Given the description of an element on the screen output the (x, y) to click on. 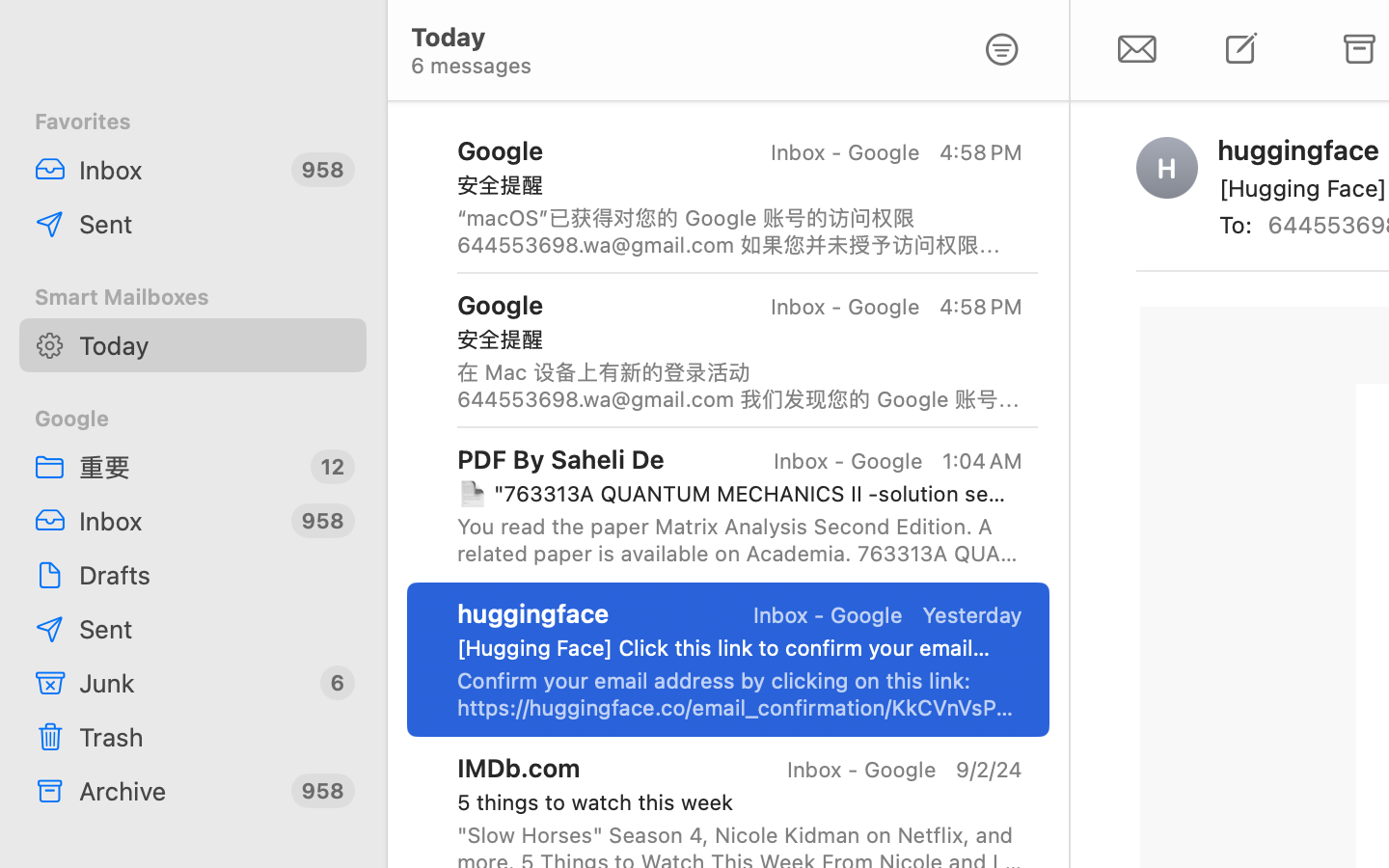
在 Mac 设备上有新的登录活动 644553698.wa@gmail.com 我们发现您的 Google 账号在一部 Mac 设备上有新的登录活动。如果这是您本人的操作，那么您无需采取任何行动。如果这不是您本人的操作，我们会帮助您保护您的账号。 查看活动 您也可以访问以下网址查看安全性活动： https://myaccount.google.com/notifications 我们向您发送这封电子邮件，目的是让您了解关于您的 Google 账号和服务的重大变化。 © 2024 Google LLC, 1600 Amphitheatre Parkway, Mountain View, CA 94043, USA Element type: AXStaticText (739, 385)
Archive Element type: AXStaticText (177, 790)
Junk Element type: AXStaticText (191, 682)
📄 "763313A QUANTUM MECHANICS II -solution set 2 -spring 2014" by Saheli De Element type: AXStaticText (731, 493)
9/2/24 Element type: AXStaticText (987, 769)
